Given the description of an element on the screen output the (x, y) to click on. 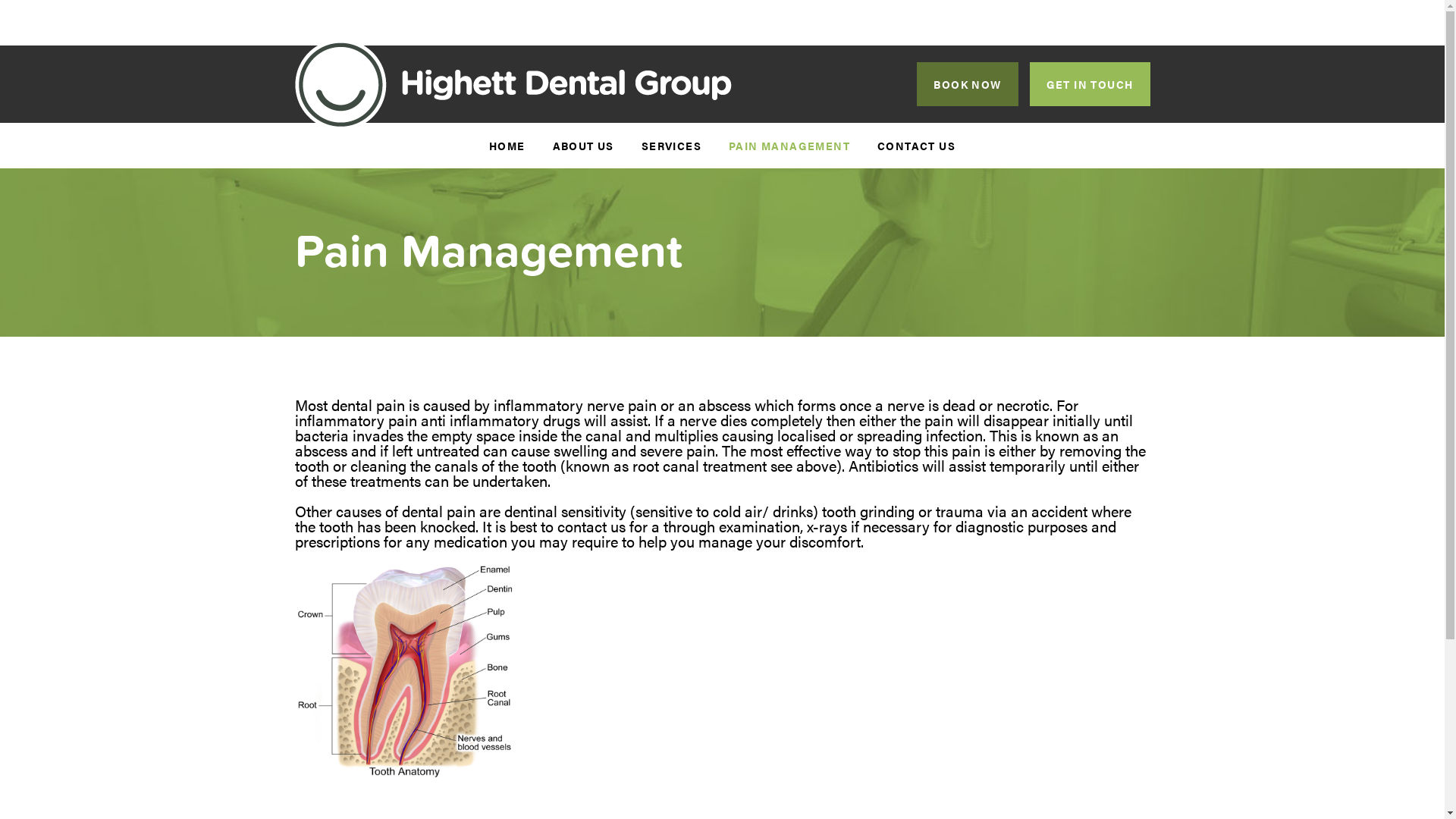
PAIN MANAGEMENT Element type: text (789, 145)
BOOK NOW Element type: text (966, 84)
SERVICES Element type: text (671, 145)
ABOUT US Element type: text (583, 145)
GET IN TOUCH Element type: text (1089, 84)
CONTACT US Element type: text (916, 145)
HOME Element type: text (507, 145)
